Given the description of an element on the screen output the (x, y) to click on. 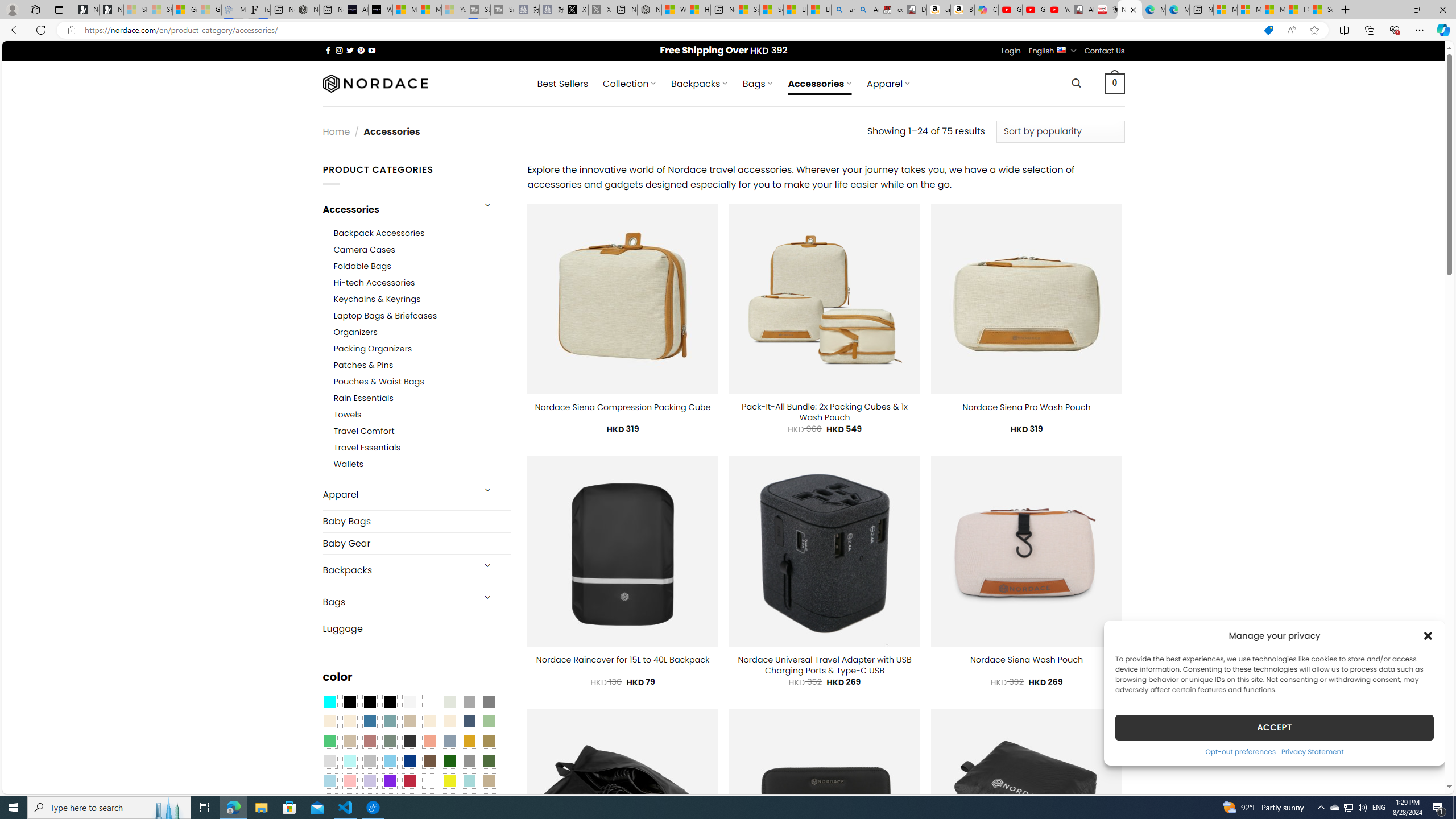
All Cubot phones (1082, 9)
Aqua Blue (329, 701)
Black (369, 701)
Mint (349, 761)
Travel Essentials (422, 448)
Microsoft Start Sports (404, 9)
Camera Cases (363, 248)
Light Green (488, 721)
